Given the description of an element on the screen output the (x, y) to click on. 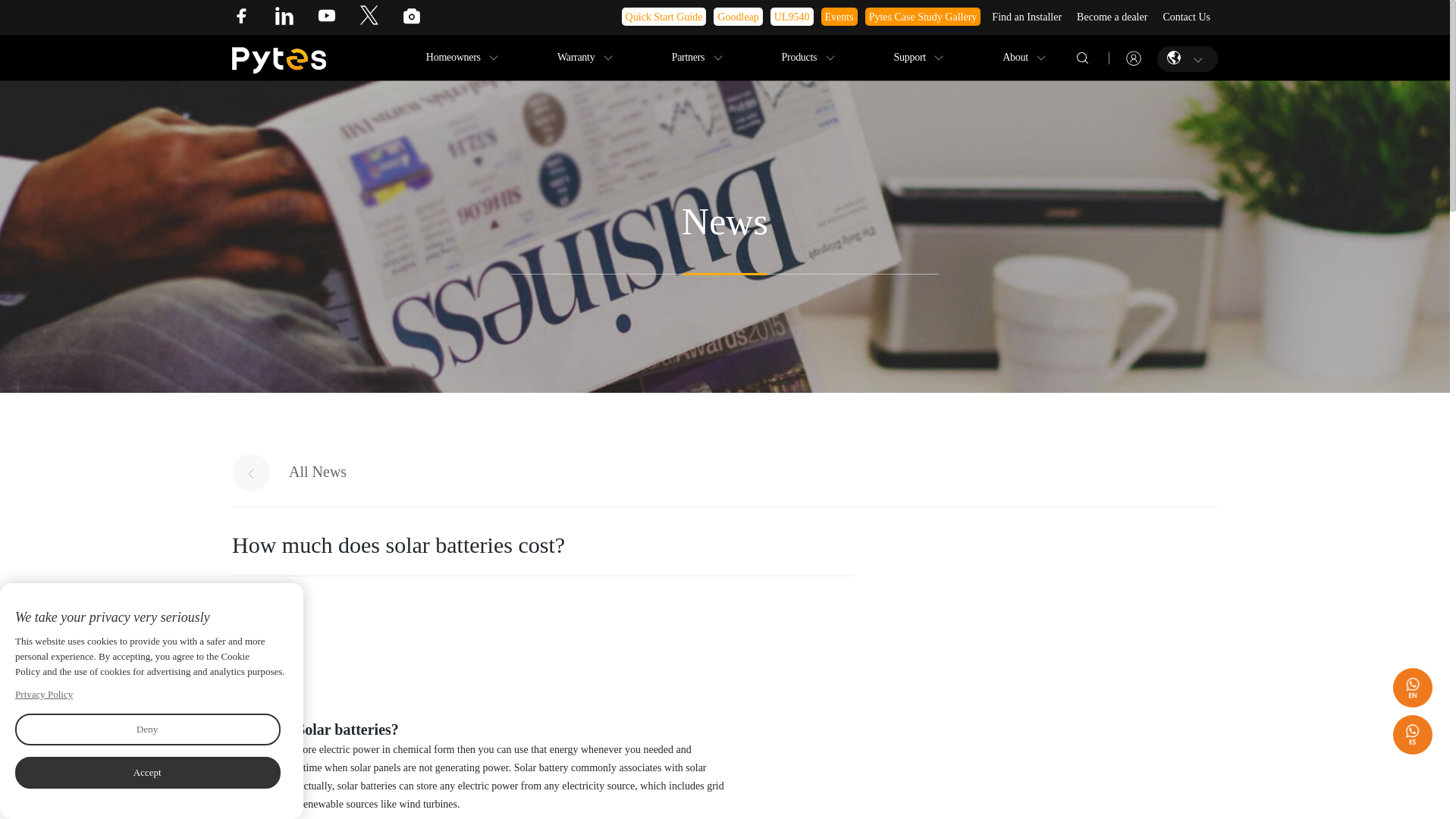
Become a dealer (1112, 16)
PYTES Energy.All rights reserved (278, 51)
Partners (687, 57)
Find an Installer (1026, 16)
Homeowners (453, 57)
Goodleap (737, 16)
Quick Start Guide (663, 16)
Contact Us (1186, 16)
Warranty (576, 57)
Events (839, 16)
Products (798, 57)
UL9540 (791, 16)
Pytes Case Study Gallery (922, 16)
